Given the description of an element on the screen output the (x, y) to click on. 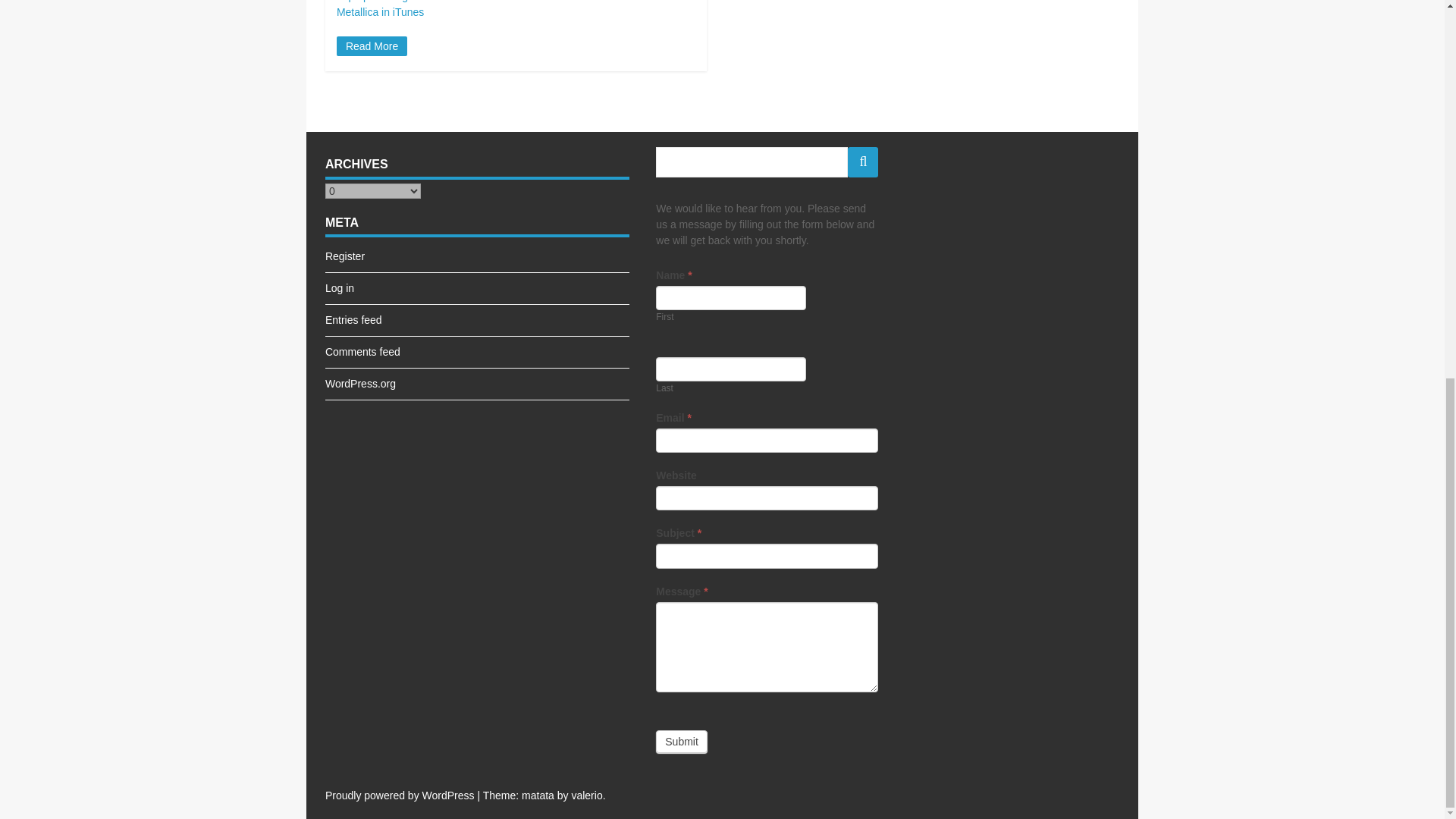
Submit (681, 741)
Read More (371, 46)
Metallica in iTunes (379, 11)
